Given the description of an element on the screen output the (x, y) to click on. 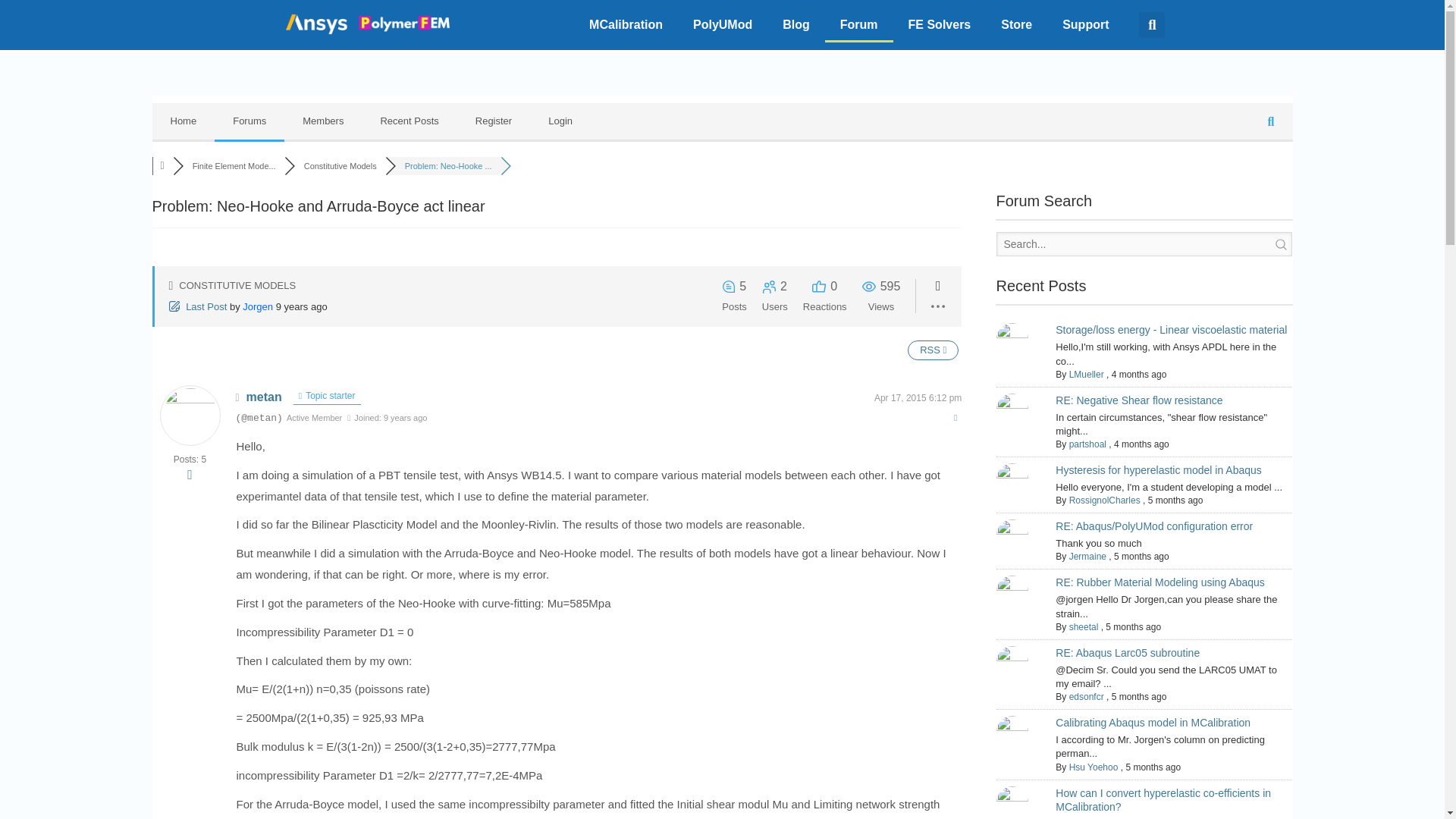
Forum (859, 24)
Jorgen (258, 306)
MCalibration (625, 24)
Constitutive Models (340, 165)
Topic RSS Feed (932, 349)
FE Solvers (940, 24)
metan (264, 396)
Finite Element Modeling (234, 165)
Rating Title (314, 417)
Blog (796, 24)
